Given the description of an element on the screen output the (x, y) to click on. 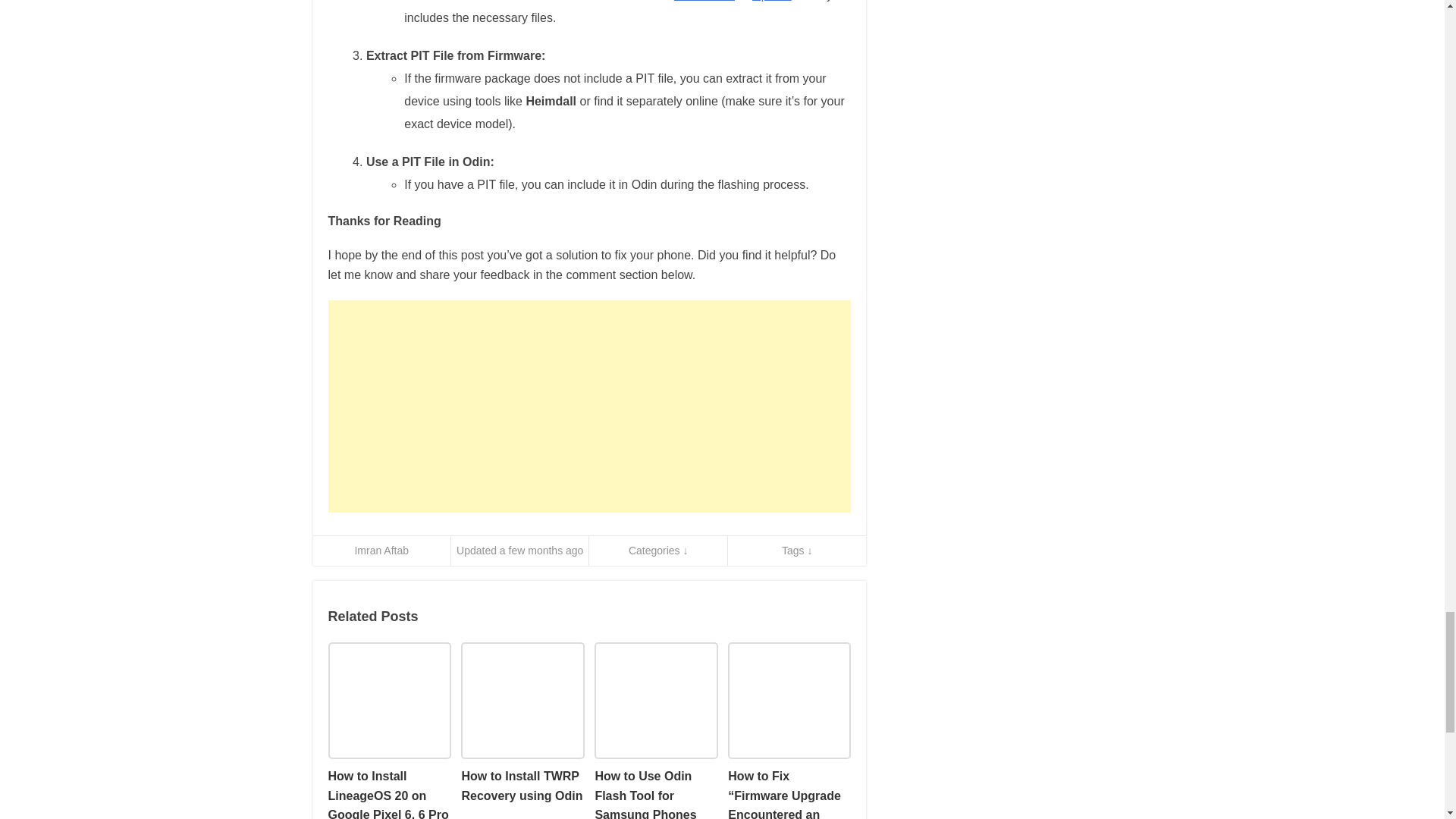
Imran Aftab (381, 550)
SamMobile (704, 0)
Updato (772, 0)
